Given the description of an element on the screen output the (x, y) to click on. 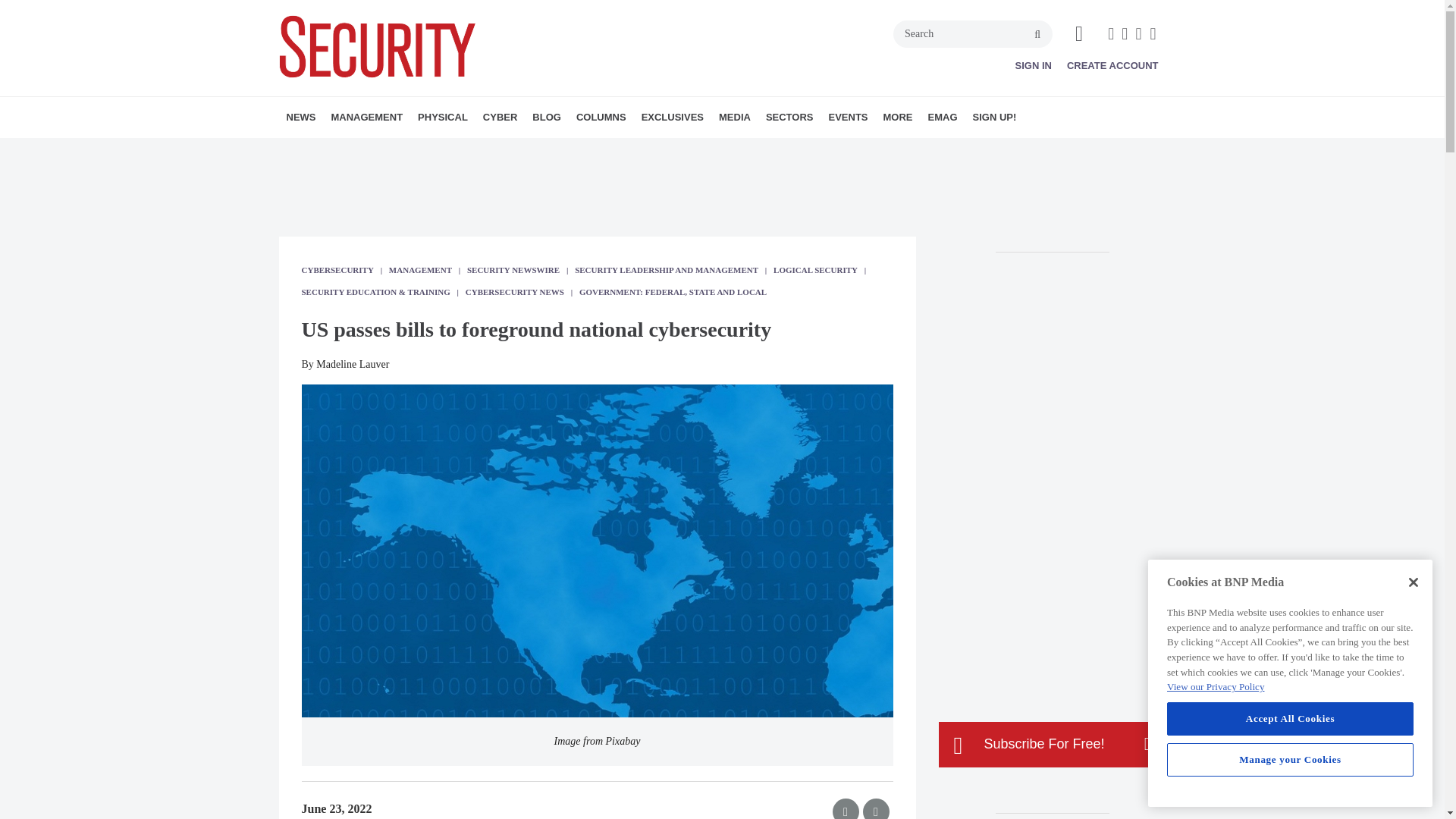
COLUMNS (601, 117)
EXCLUSIVES (672, 117)
Search (972, 33)
MANAGEMENT (366, 117)
Search (972, 33)
MORE (440, 150)
CREATE ACCOUNT (1112, 65)
PHYSICAL (443, 117)
BLOG (546, 117)
SIGN IN (1032, 65)
